Given the description of an element on the screen output the (x, y) to click on. 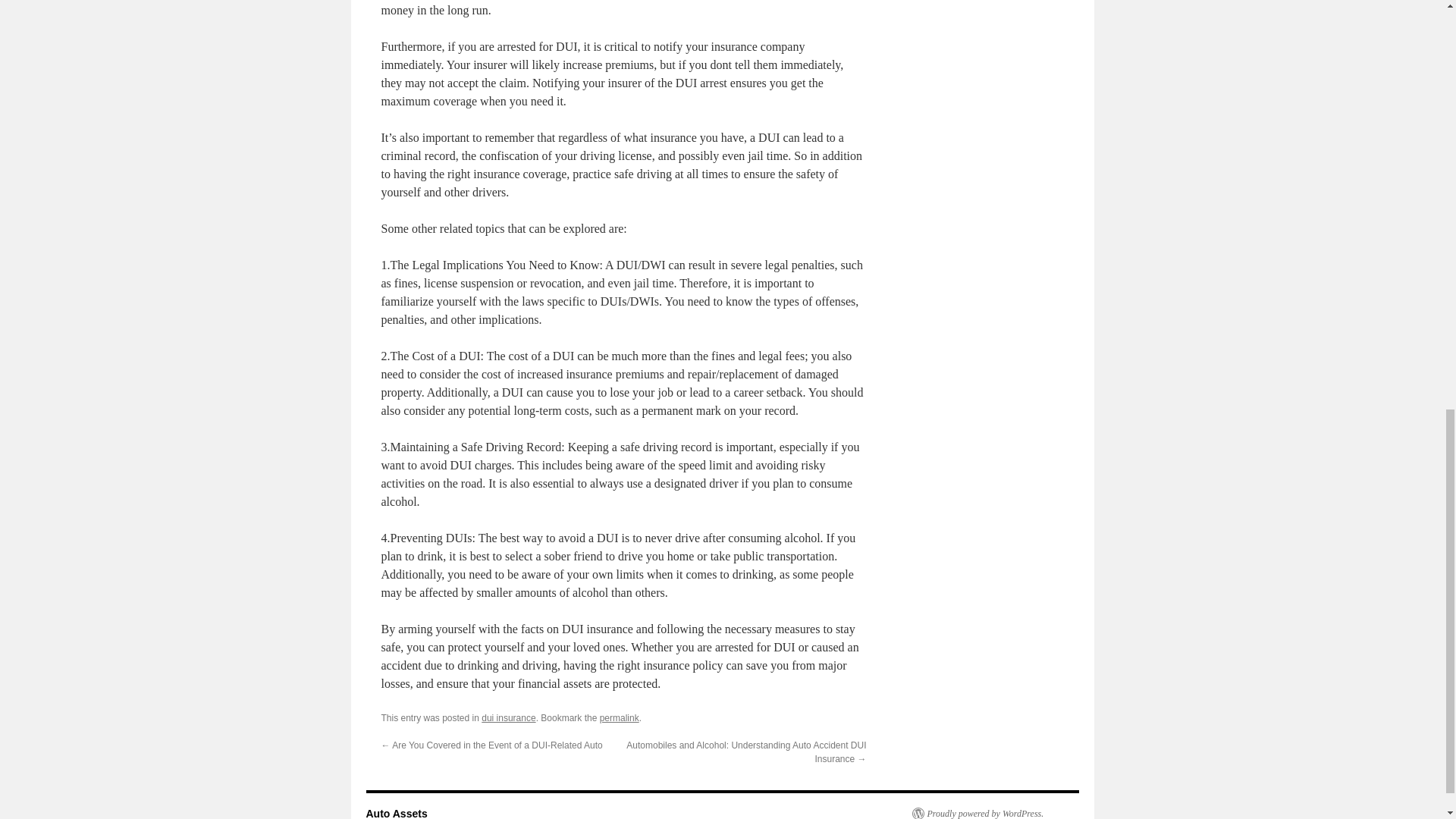
permalink (619, 717)
dui insurance (508, 717)
